Given the description of an element on the screen output the (x, y) to click on. 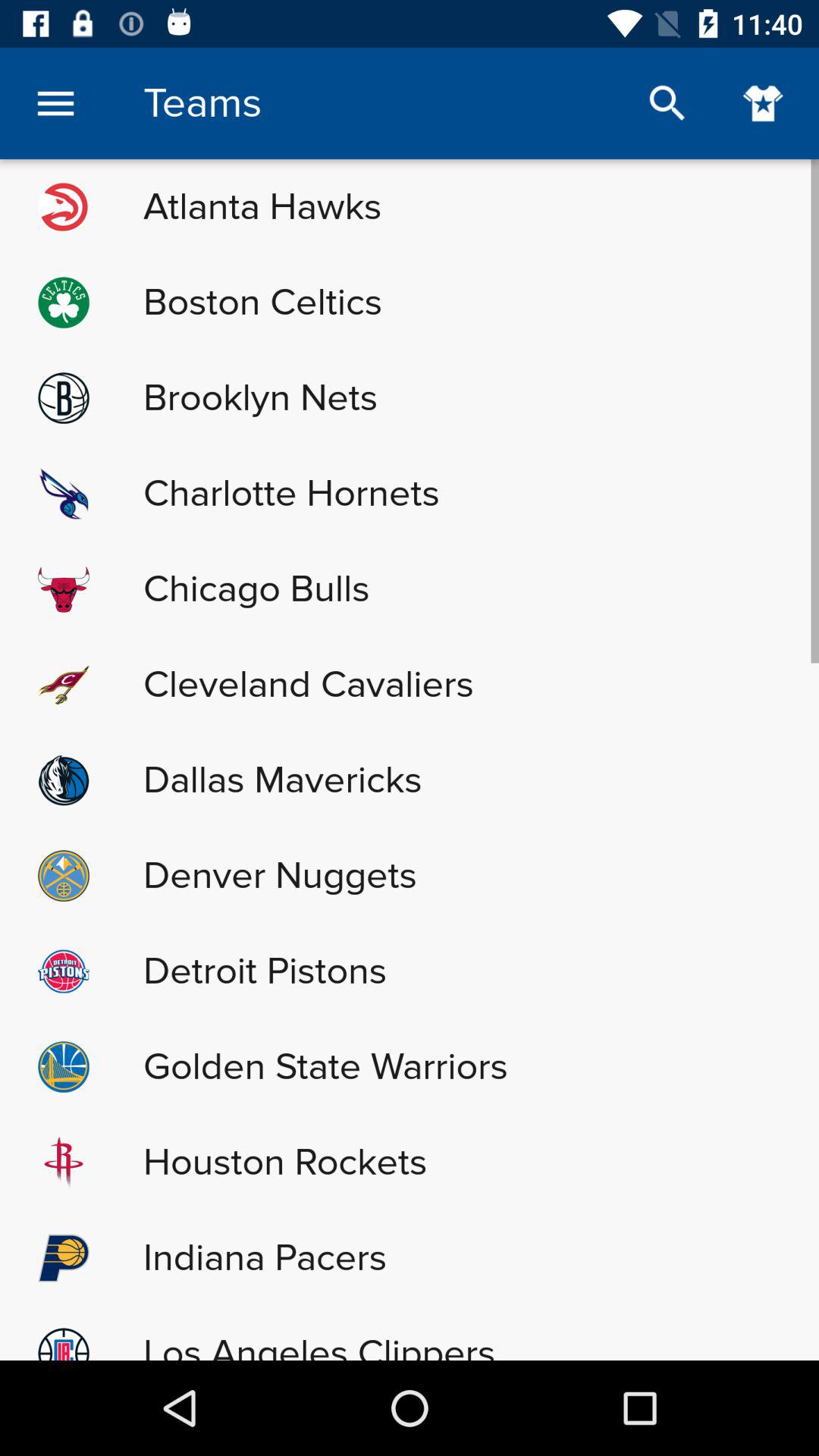
search button (667, 103)
